Given the description of an element on the screen output the (x, y) to click on. 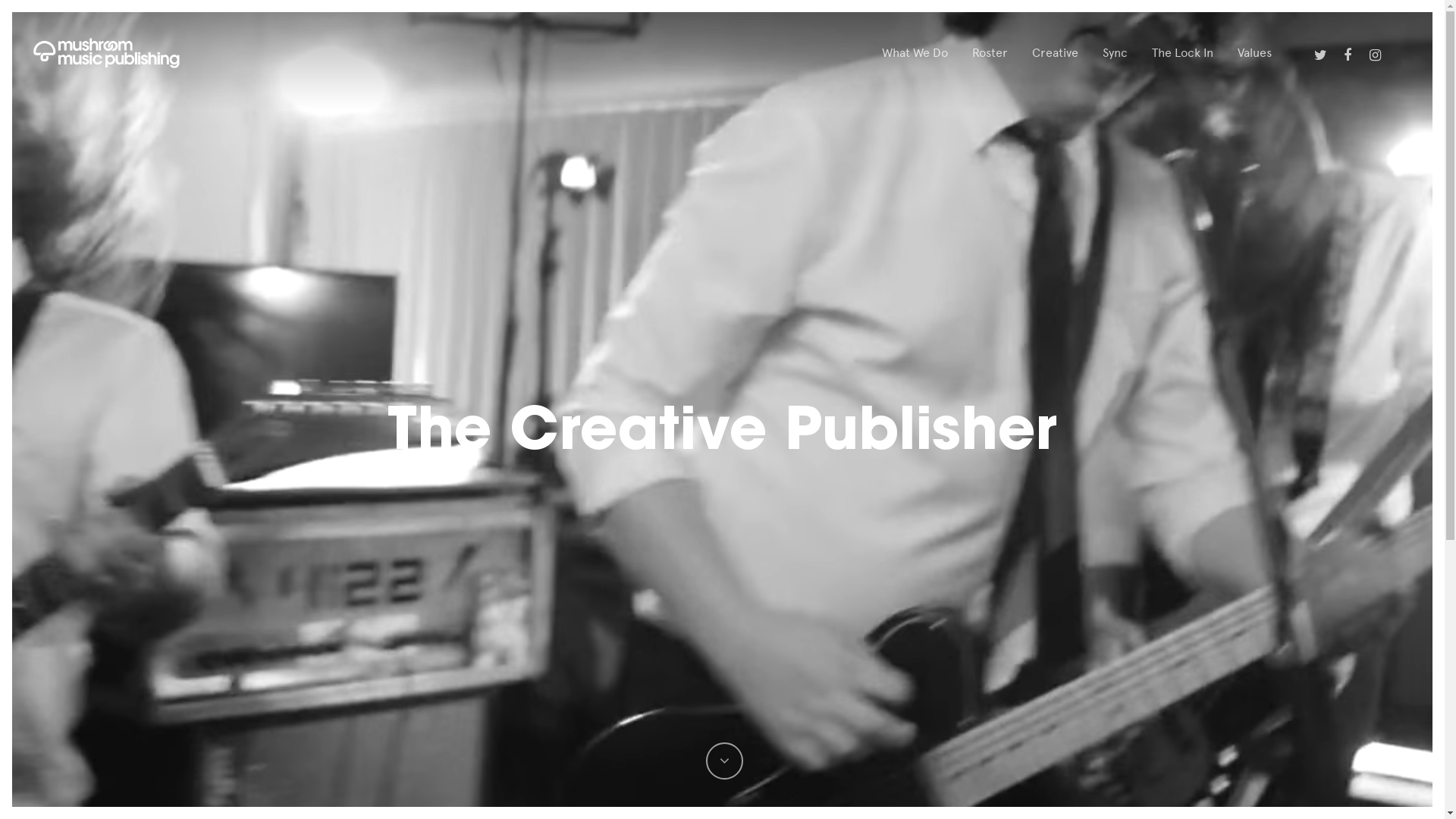
Sync Element type: text (1114, 53)
Values Element type: text (1254, 53)
Roster Element type: text (989, 53)
What We Do Element type: text (914, 53)
Creative Element type: text (1055, 53)
The Lock In Element type: text (1182, 53)
